Given the description of an element on the screen output the (x, y) to click on. 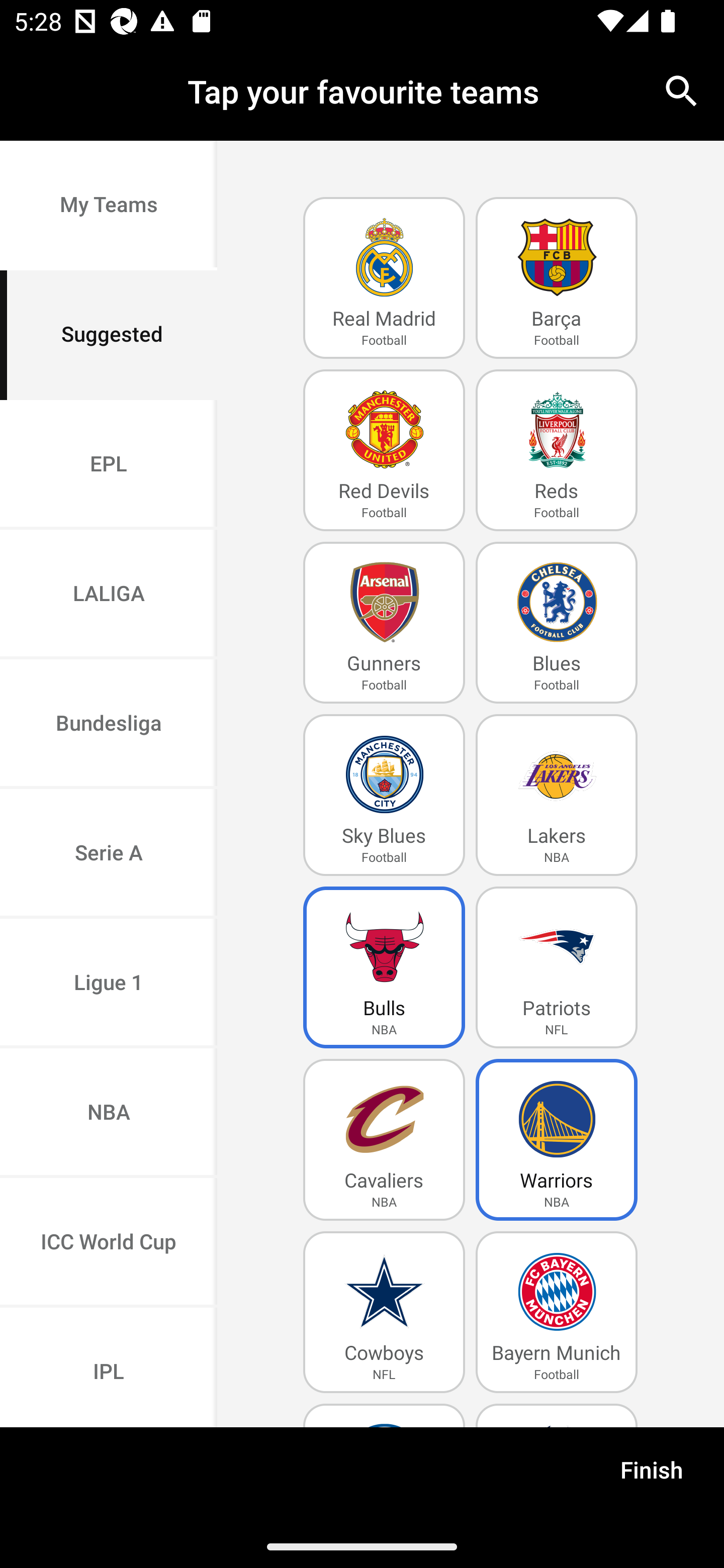
search (681, 90)
My Teams (108, 206)
Real Madrid Real Madrid Football (383, 278)
Barça Barça Football (556, 278)
Suggested (108, 334)
Red Devils Red Devils Football (383, 450)
Reds Reds Football (556, 450)
EPL (108, 464)
LALIGA (108, 594)
Gunners Gunners Football (383, 623)
Blues Blues Football (556, 623)
Bundesliga (108, 725)
Sky Blues Sky Blues Football (383, 794)
Lakers Lakers NBA (556, 794)
Serie A (108, 853)
Bulls BullsSelected NBA (383, 966)
Patriots Patriots NFL (556, 966)
Ligue 1 (108, 983)
NBA (108, 1113)
Cavaliers Cavaliers NBA (383, 1139)
Warriors WarriorsSelected NBA (556, 1139)
ICC World Cup (108, 1242)
Cowboys Cowboys NFL (383, 1311)
Bayern Munich Bayern Munich Football (556, 1311)
IPL (108, 1366)
Finish Finish and Close (651, 1475)
